Given the description of an element on the screen output the (x, y) to click on. 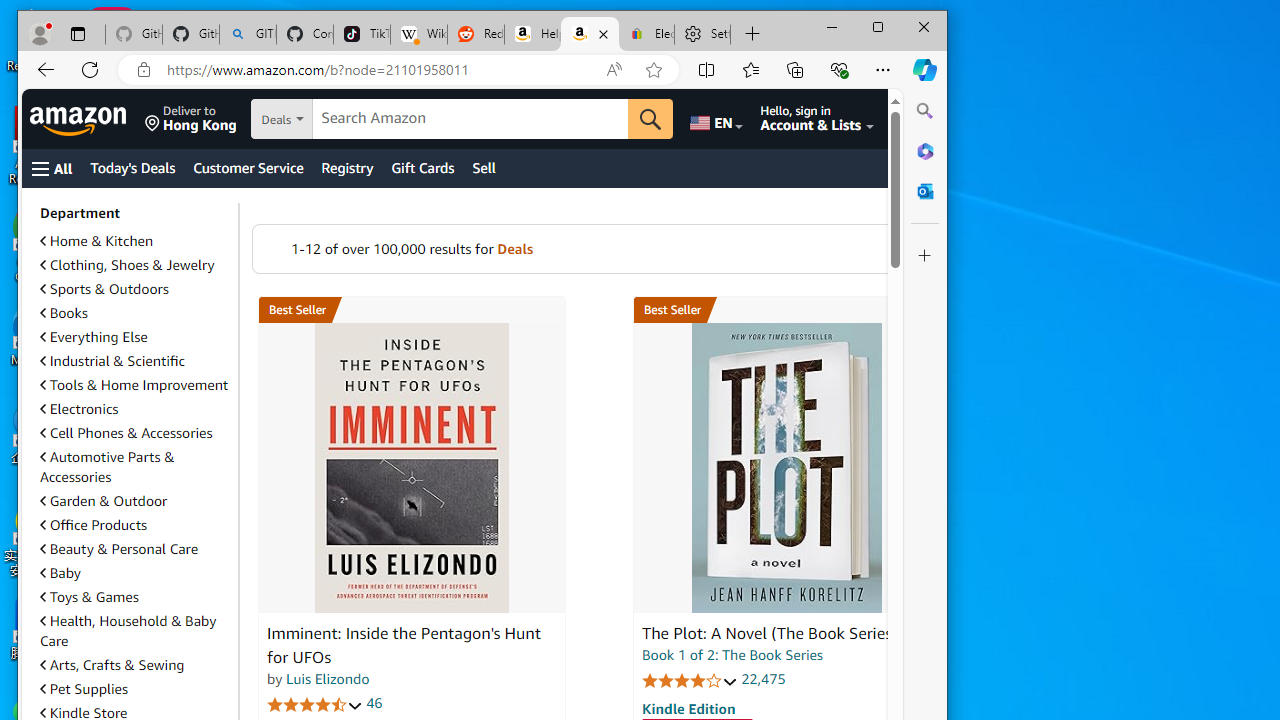
Automotive Parts & Accessories (107, 466)
Amazon (80, 119)
Today's Deals (132, 168)
Wikipedia, the free encyclopedia (418, 34)
Office Products (135, 524)
Imminent: Inside the Pentagon's Hunt for UFOs (411, 467)
Amazon.com: Deals (589, 34)
Toys & Games (89, 597)
Arts, Crafts & Sewing (112, 664)
Garden & Outdoor (103, 500)
